Given the description of an element on the screen output the (x, y) to click on. 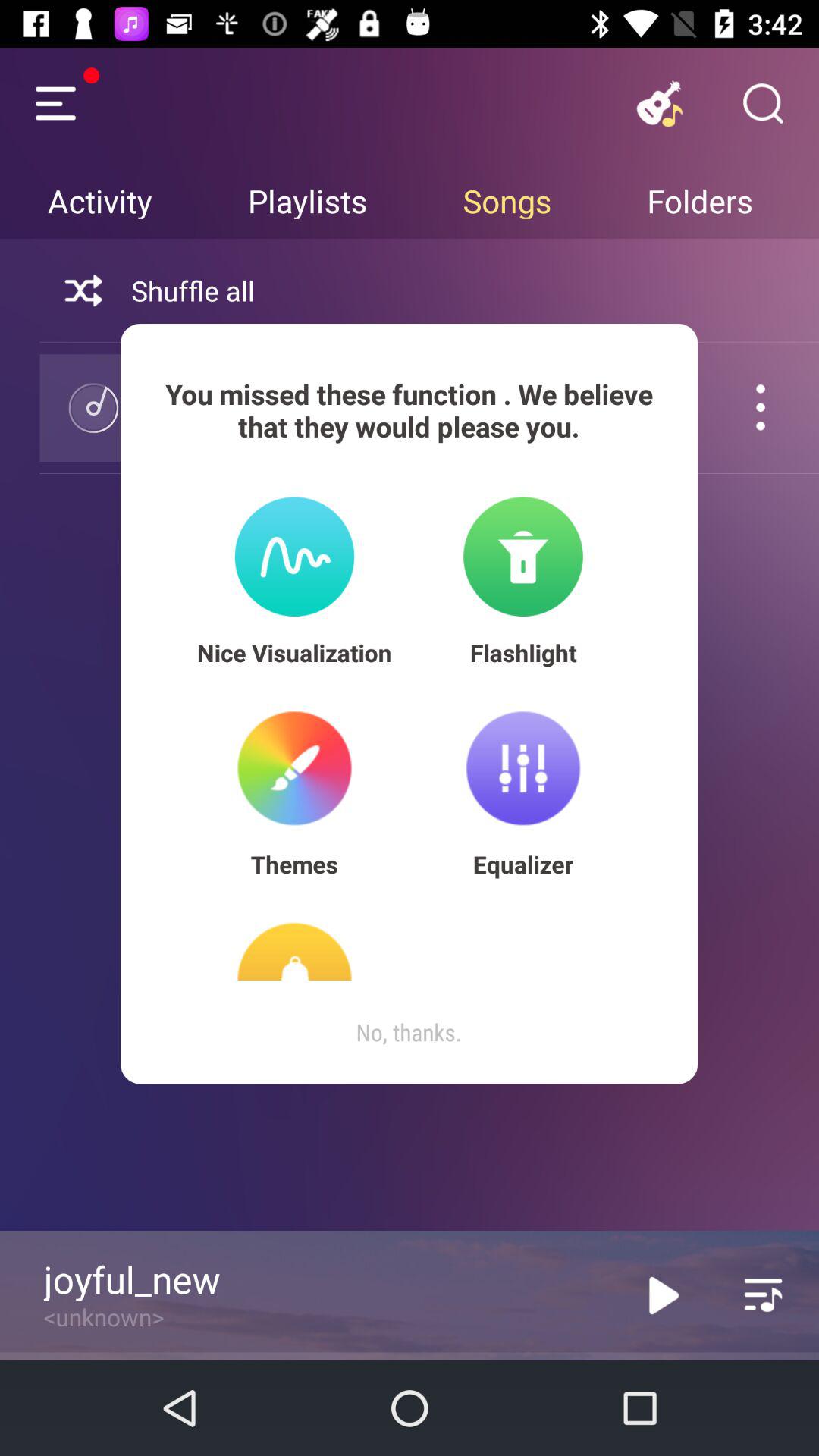
scroll until the no, thanks. item (408, 1032)
